Given the description of an element on the screen output the (x, y) to click on. 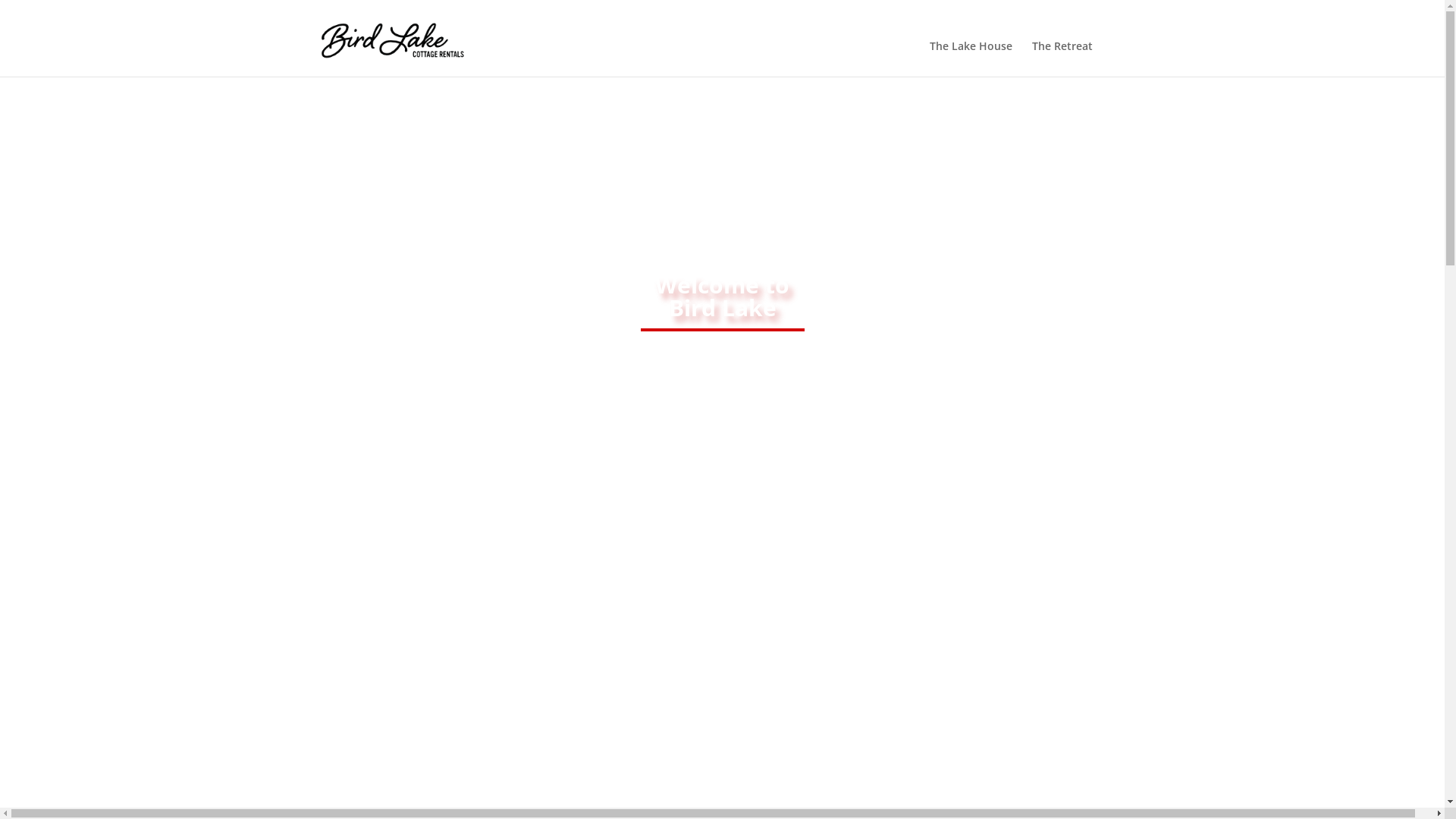
The Lake House Element type: text (970, 58)
The Retreat Element type: text (1061, 58)
